Given the description of an element on the screen output the (x, y) to click on. 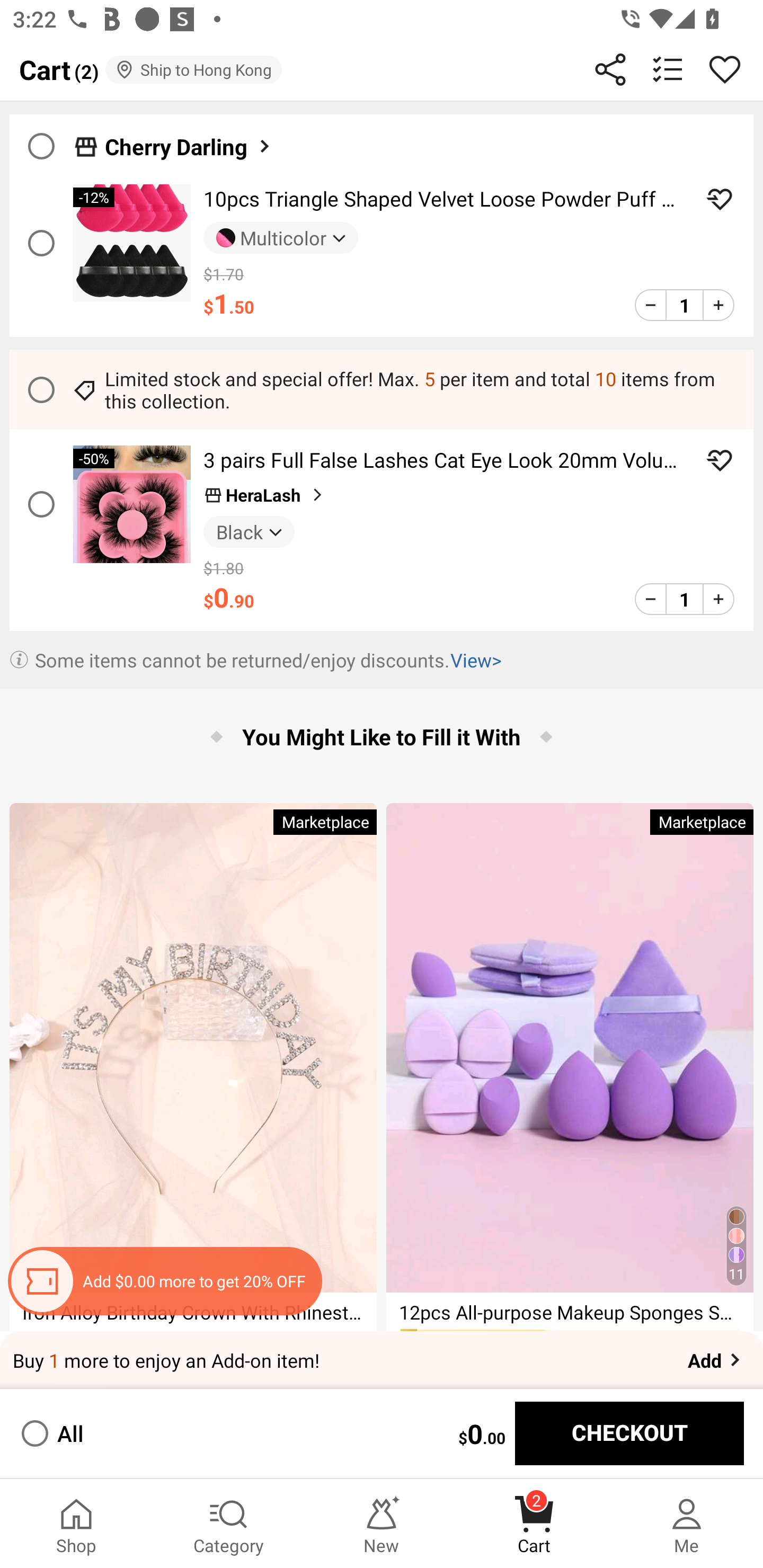
Wishlist (724, 68)
Share (610, 68)
batch delete (667, 68)
Ship to Hong Kong (193, 68)
Cherry Darling (381, 140)
Cherry Darling (189, 146)
ADD TO WISHLIST (719, 199)
 Multicolor (280, 238)
product quantity minus 1 (650, 304)
1 edit product quantity (684, 304)
product quantity add 1 (718, 304)
ADD TO WISHLIST (719, 460)
HeraLash (264, 494)
Black (248, 531)
product quantity minus 1 (650, 598)
1 edit product quantity (684, 598)
product quantity add 1 (718, 598)
Coupon Alert Add $0.00 more to get 20% OFF (164, 1280)
Buy 1 more to enjoy an Add-on item! Add (381, 1360)
Add (715, 1359)
CHECKOUT (629, 1432)
All (51, 1432)
Shop (76, 1523)
Category (228, 1523)
New (381, 1523)
Me (686, 1523)
